Given the description of an element on the screen output the (x, y) to click on. 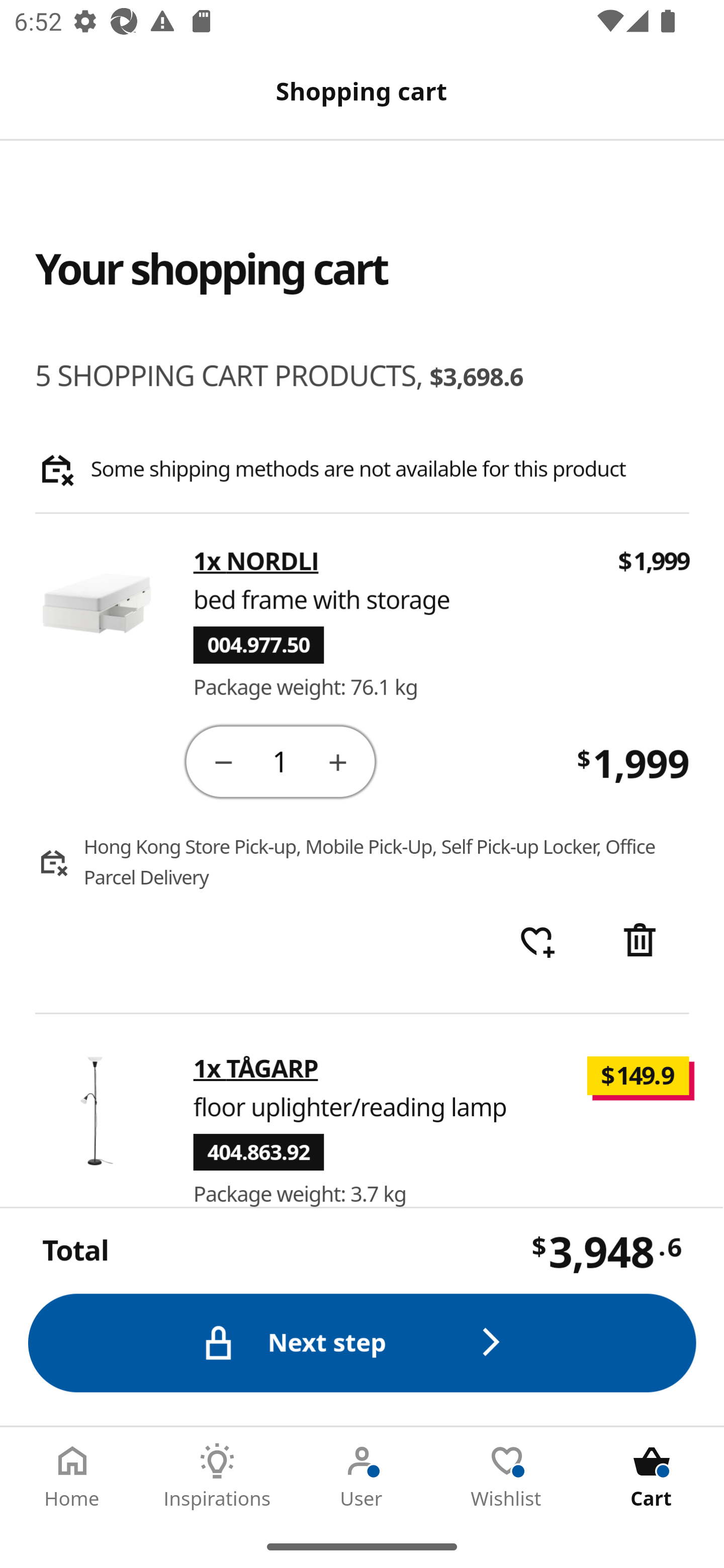
1x  NORDLI 1x  NORDLI (256, 561)
1 (281, 760)
 (223, 761)
 (338, 761)
  (536, 942)
 (641, 942)
1x  TÅGARP 1x  TÅGARP (256, 1068)
Home
Tab 1 of 5 (72, 1476)
Inspirations
Tab 2 of 5 (216, 1476)
User
Tab 3 of 5 (361, 1476)
Wishlist
Tab 4 of 5 (506, 1476)
Cart
Tab 5 of 5 (651, 1476)
